Given the description of an element on the screen output the (x, y) to click on. 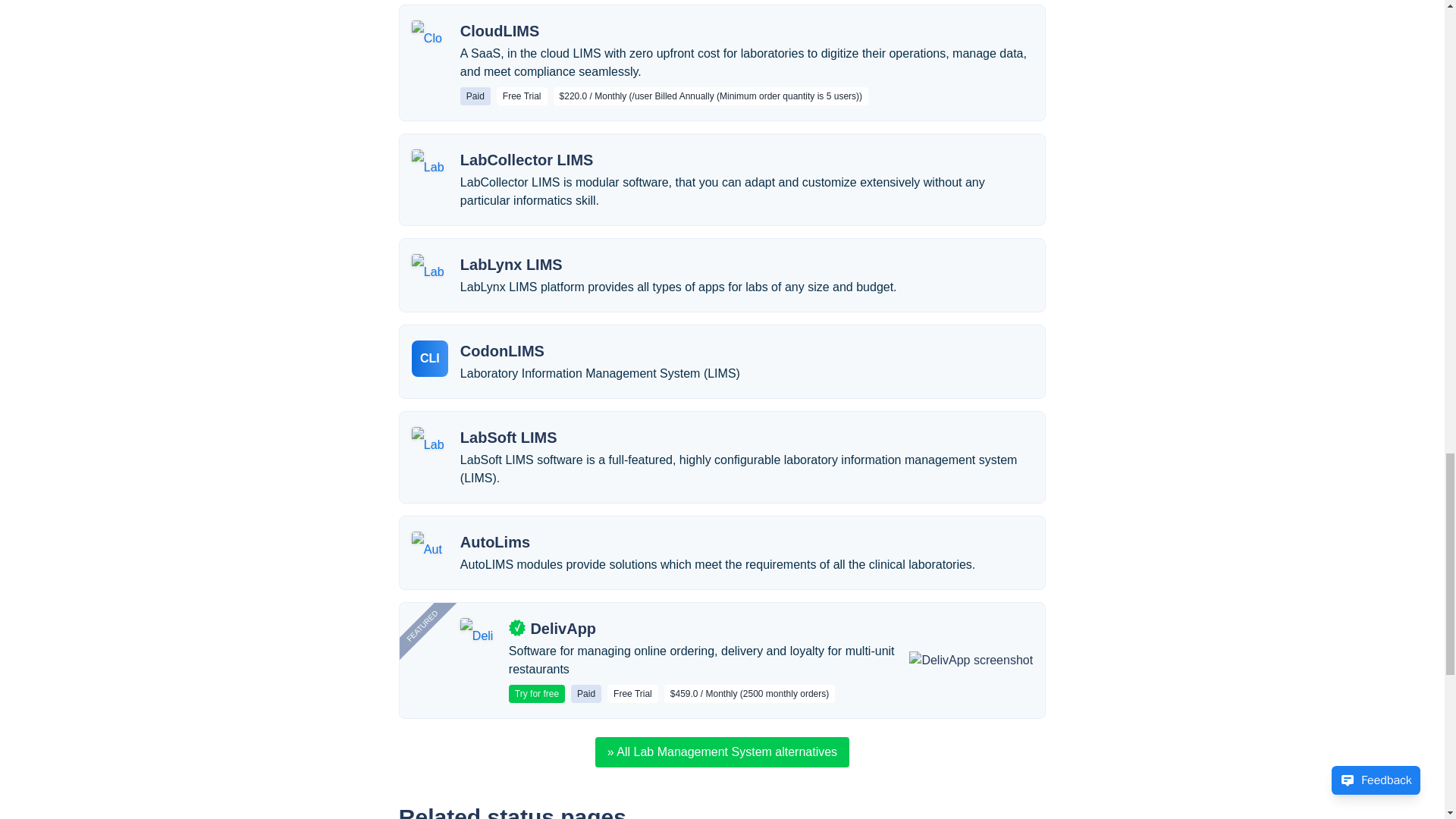
CloudLIMS (499, 30)
LabCollector LIMS (527, 159)
